Given the description of an element on the screen output the (x, y) to click on. 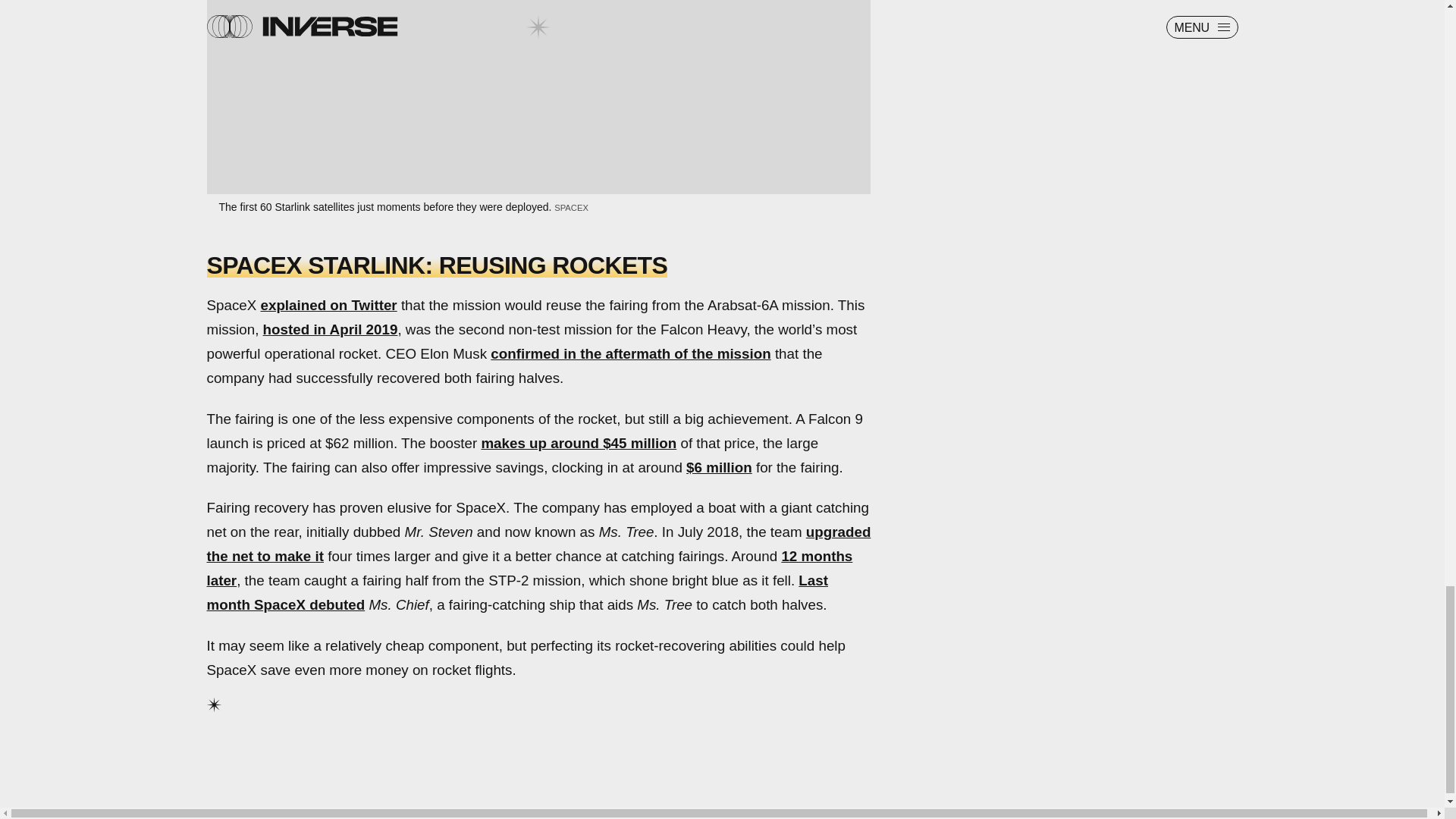
Last month SpaceX debuted (516, 592)
explained on Twitter (328, 304)
12 months later (528, 567)
hosted in April 2019 (330, 329)
confirmed in the aftermath of the mission (630, 353)
upgraded the net to make it (538, 544)
